Given the description of an element on the screen output the (x, y) to click on. 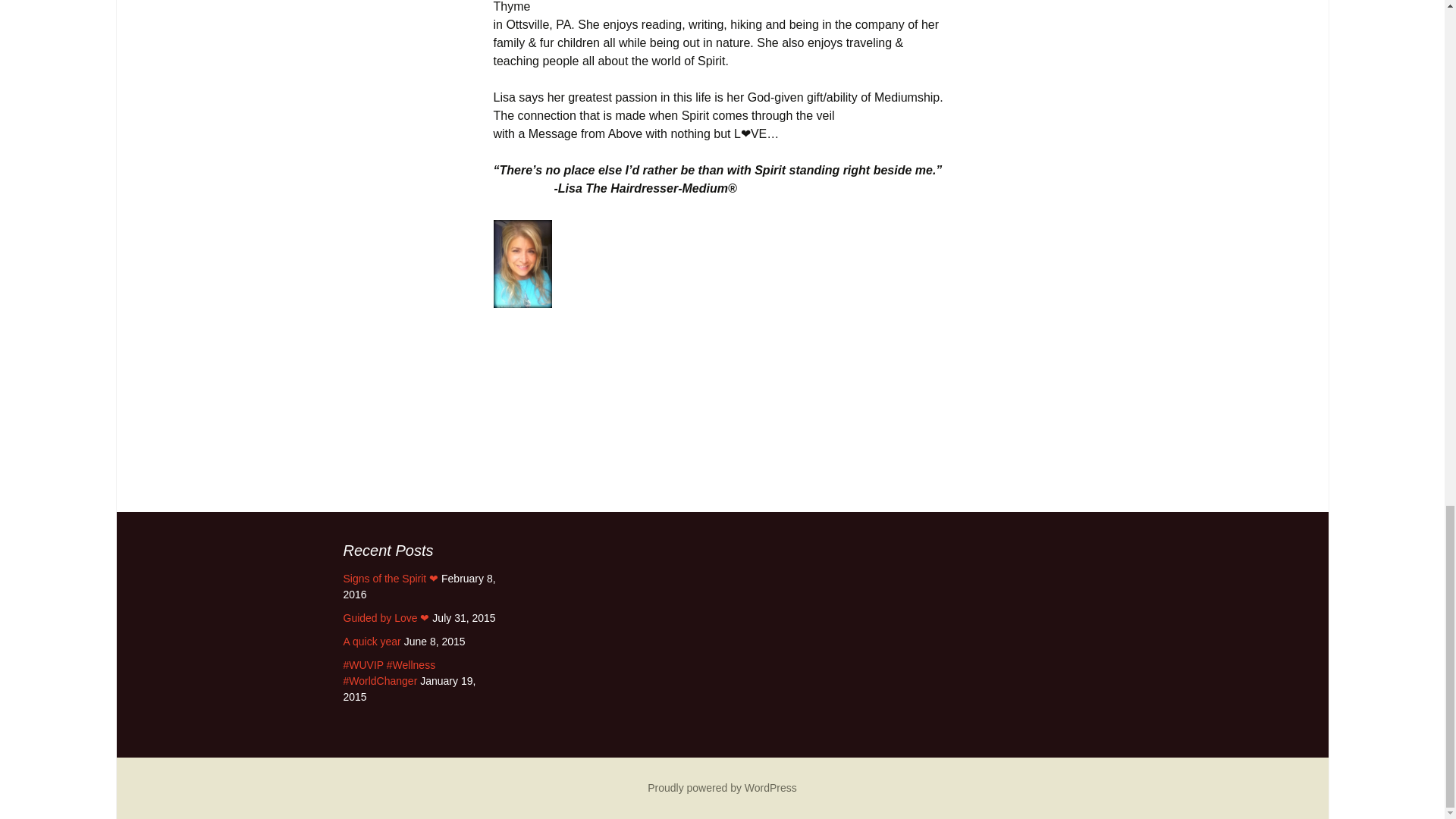
Semantic Personal Publishing Platform (721, 787)
Proudly powered by WordPress (721, 787)
A quick year (371, 641)
